Given the description of an element on the screen output the (x, y) to click on. 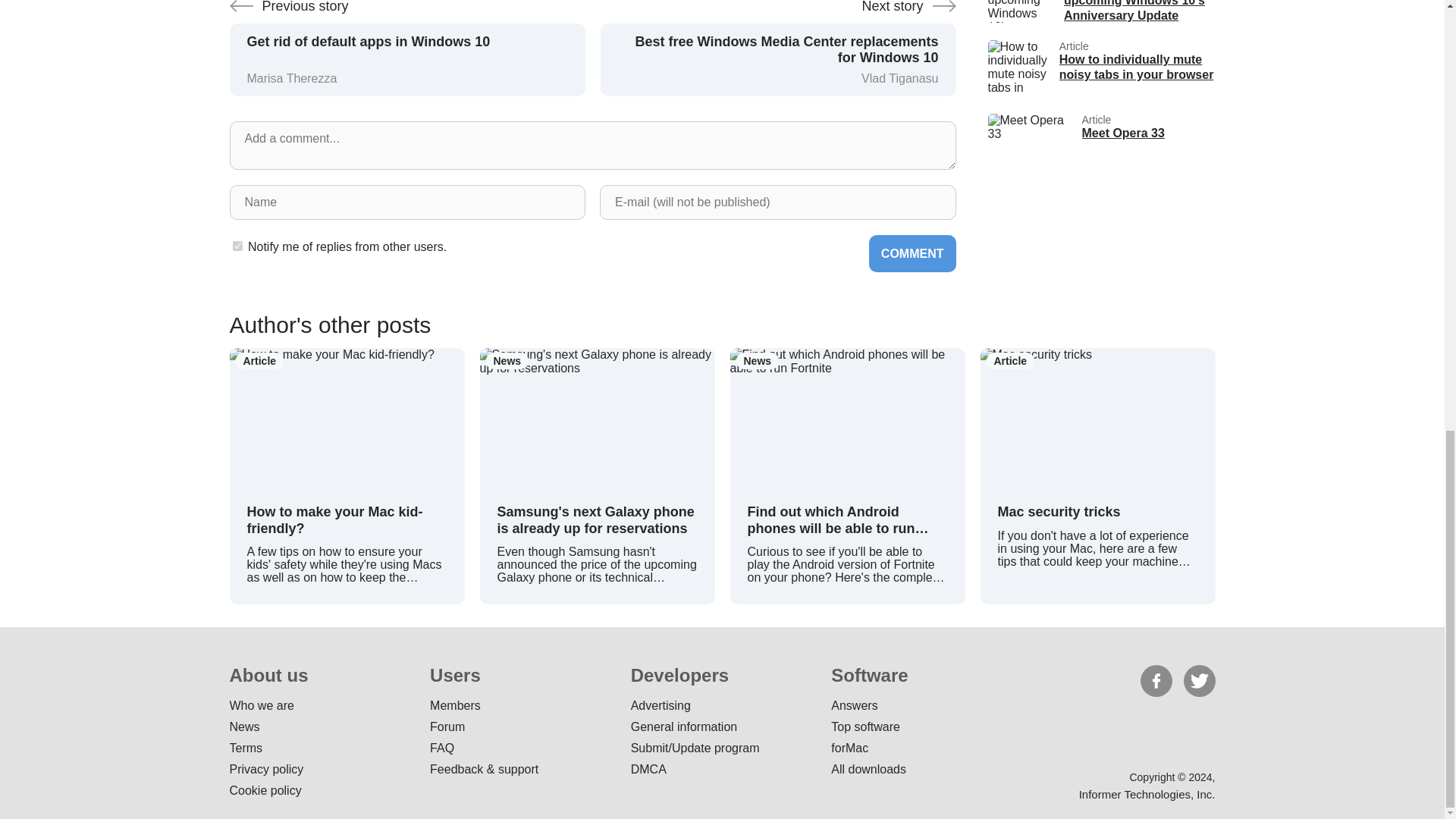
Comment (1100, 141)
1 (1100, 68)
Comment (912, 253)
